Given the description of an element on the screen output the (x, y) to click on. 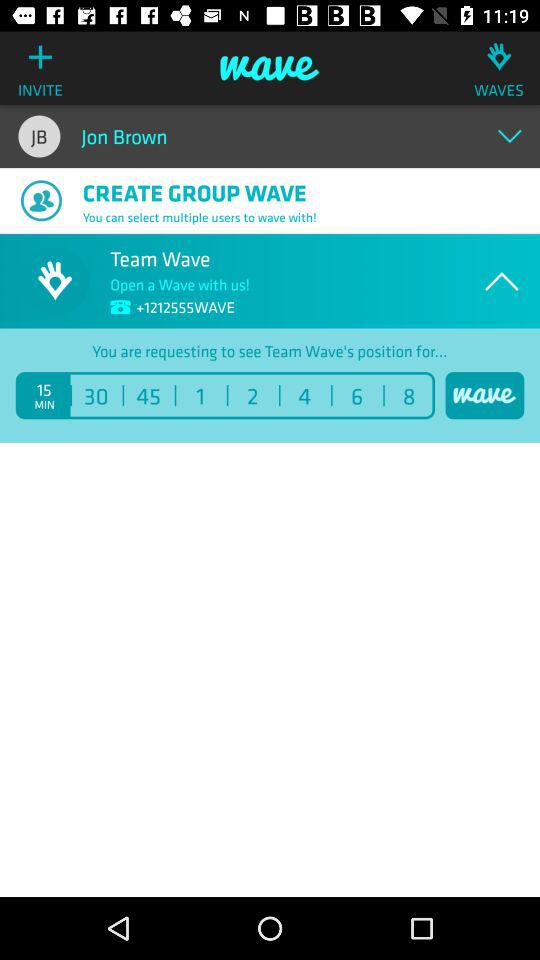
turn off icon to the right of invite (269, 68)
